Given the description of an element on the screen output the (x, y) to click on. 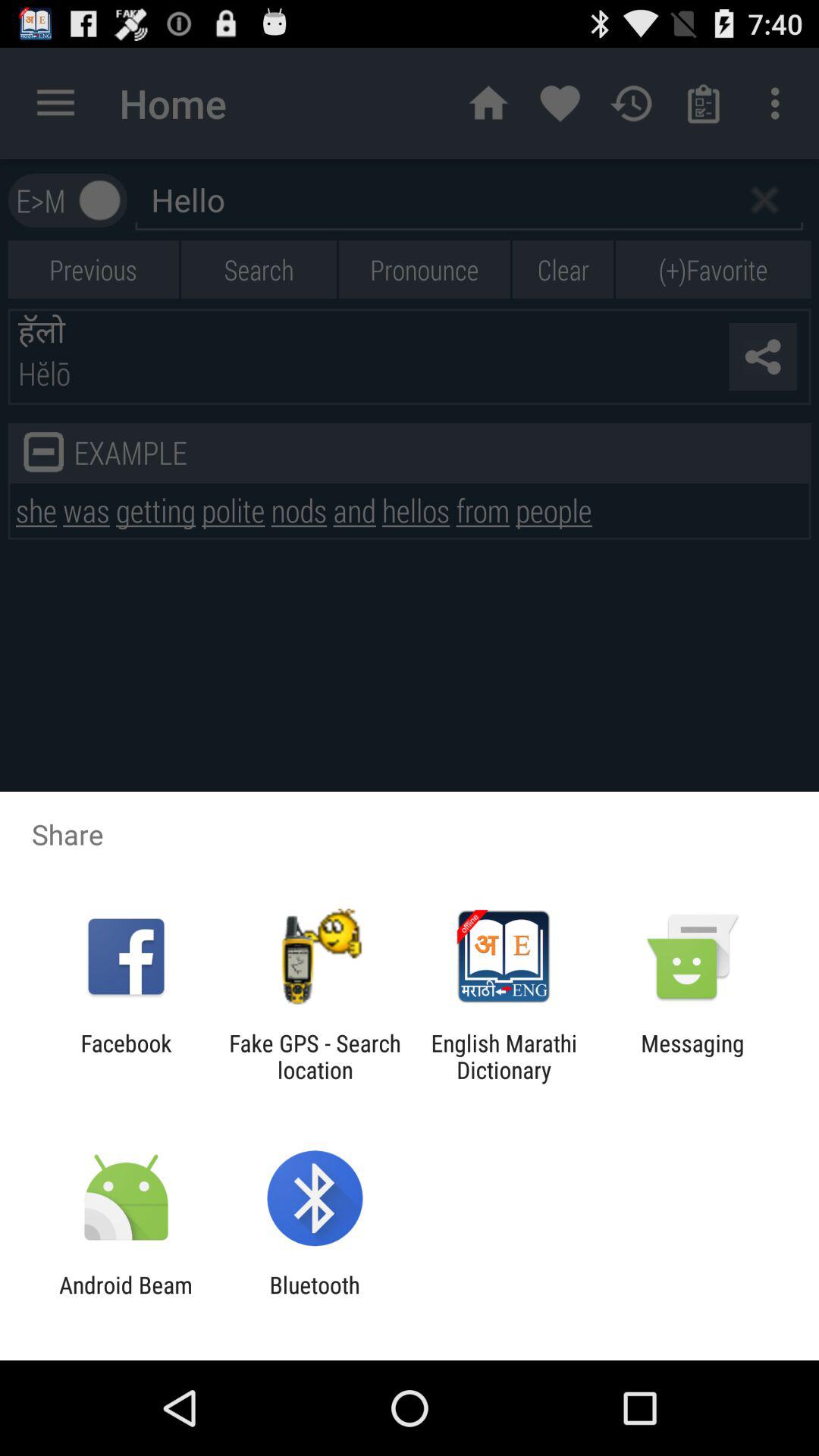
open item next to the android beam item (314, 1298)
